Given the description of an element on the screen output the (x, y) to click on. 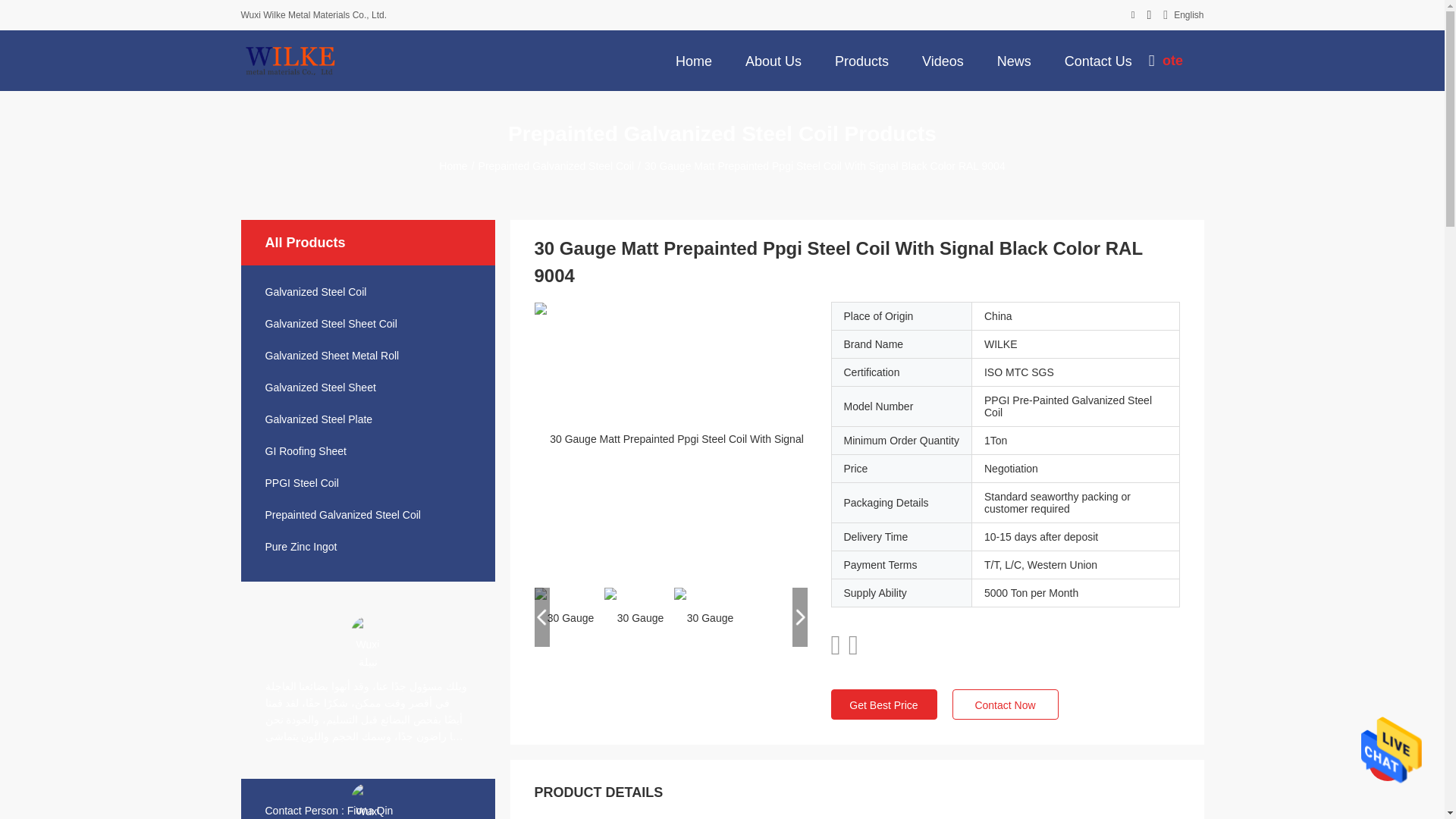
About Us (773, 60)
Home (693, 60)
Products (861, 60)
